Given the description of an element on the screen output the (x, y) to click on. 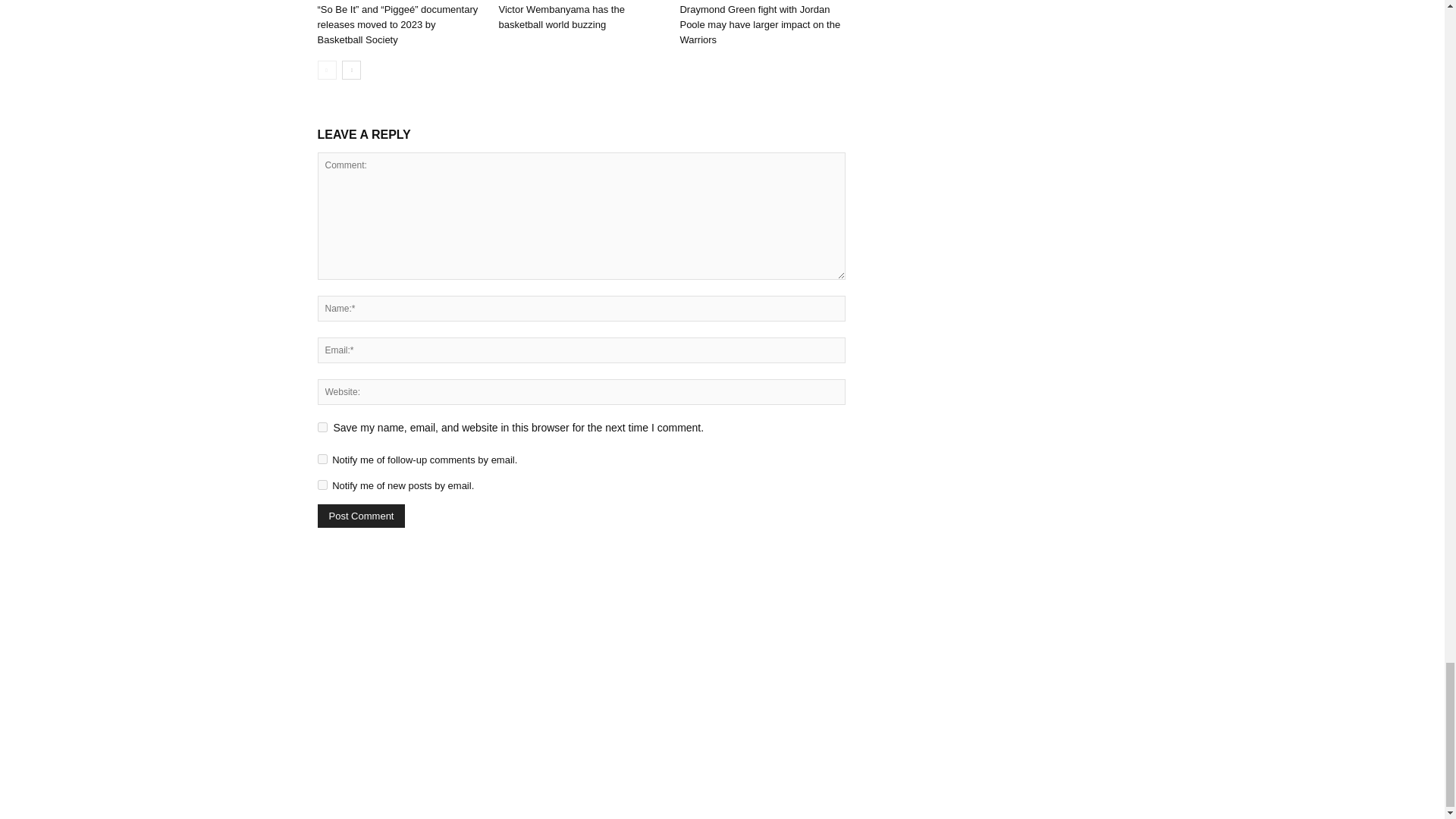
subscribe (321, 484)
yes (321, 427)
subscribe (321, 459)
Post Comment (360, 515)
Victor Wembanyama has the basketball world buzzing (560, 17)
